Given the description of an element on the screen output the (x, y) to click on. 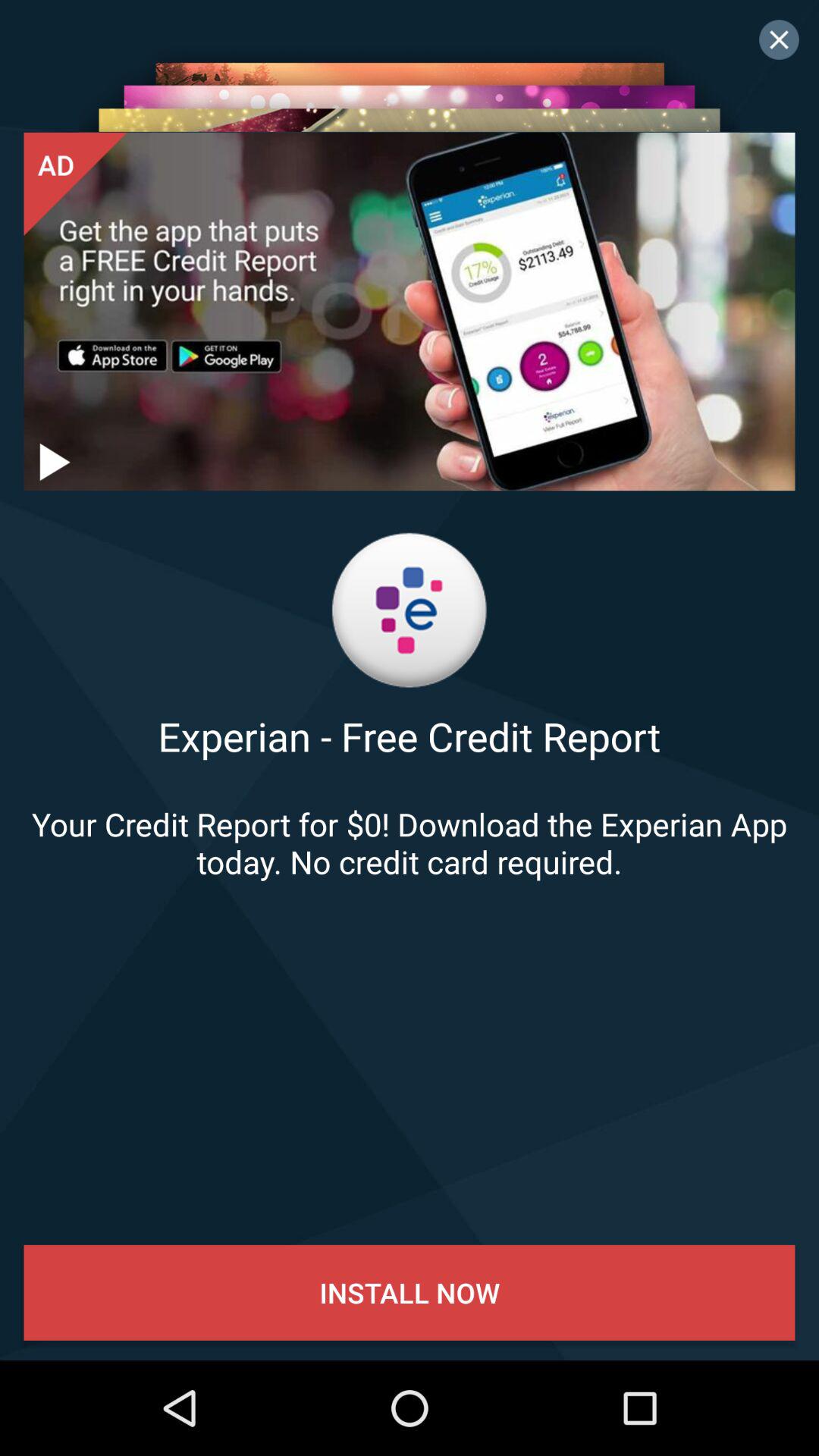
flip to the install now button (409, 1292)
